Given the description of an element on the screen output the (x, y) to click on. 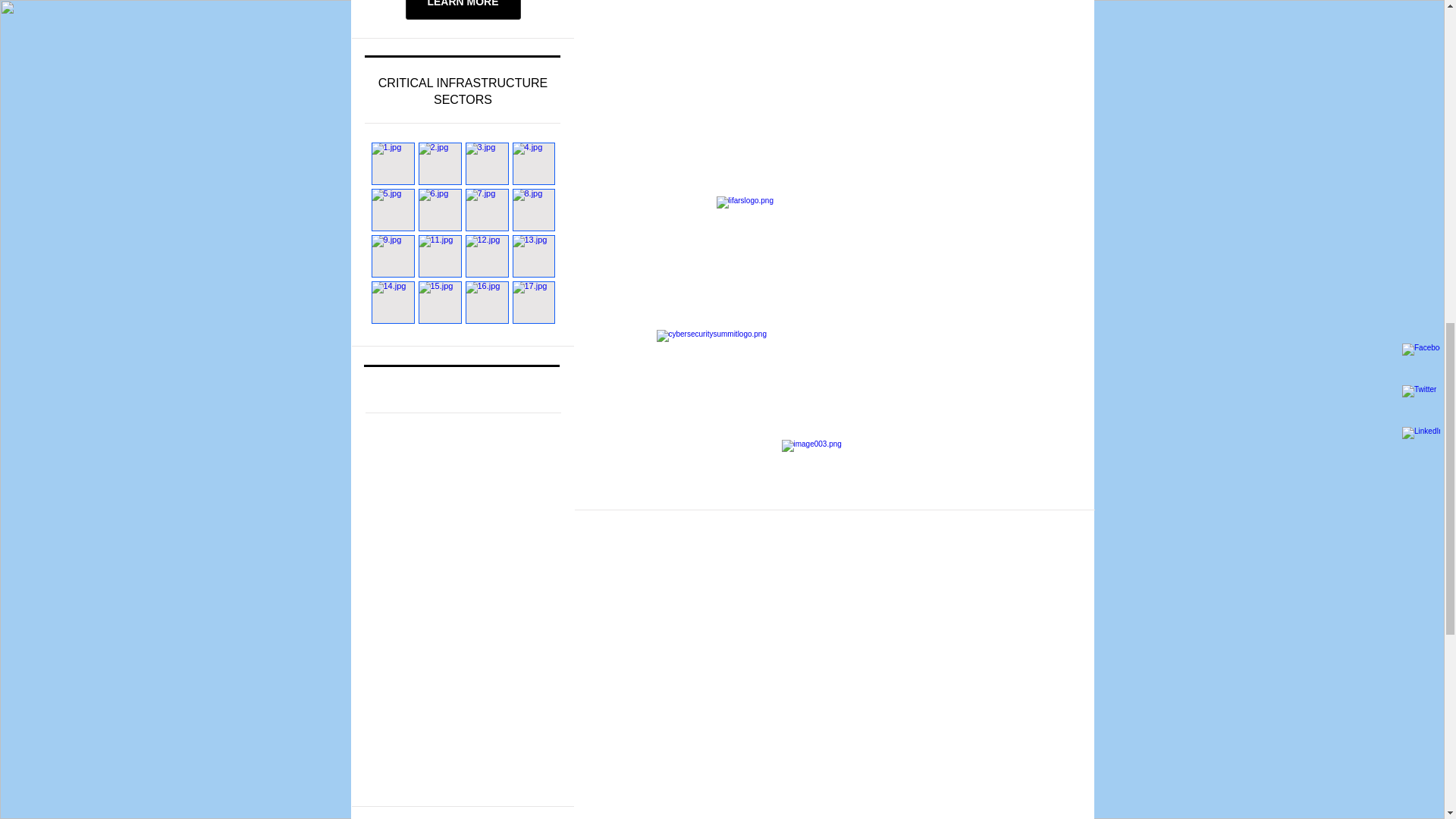
LEARN MORE (461, 9)
